Given the description of an element on the screen output the (x, y) to click on. 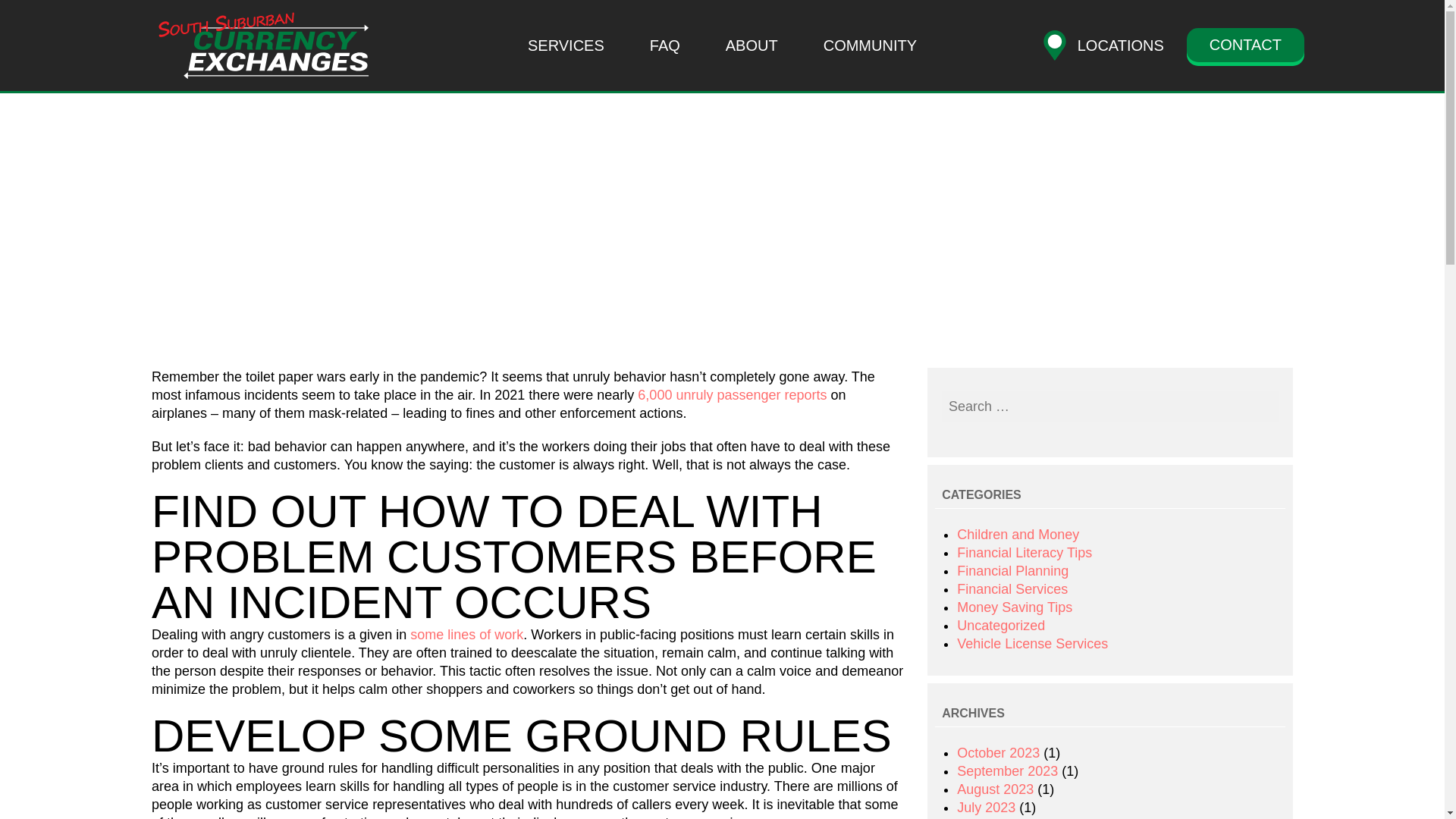
Money Saving Tips (1013, 607)
CONTACT (1245, 44)
SERVICES (566, 45)
Financial Planning (1012, 570)
COMMUNITY (869, 45)
LOCATIONS (1112, 45)
Uncategorized (1000, 625)
Financial Literacy Tips (1024, 552)
6,000 unruly passenger reports (732, 394)
Children and Money (1017, 534)
